Given the description of an element on the screen output the (x, y) to click on. 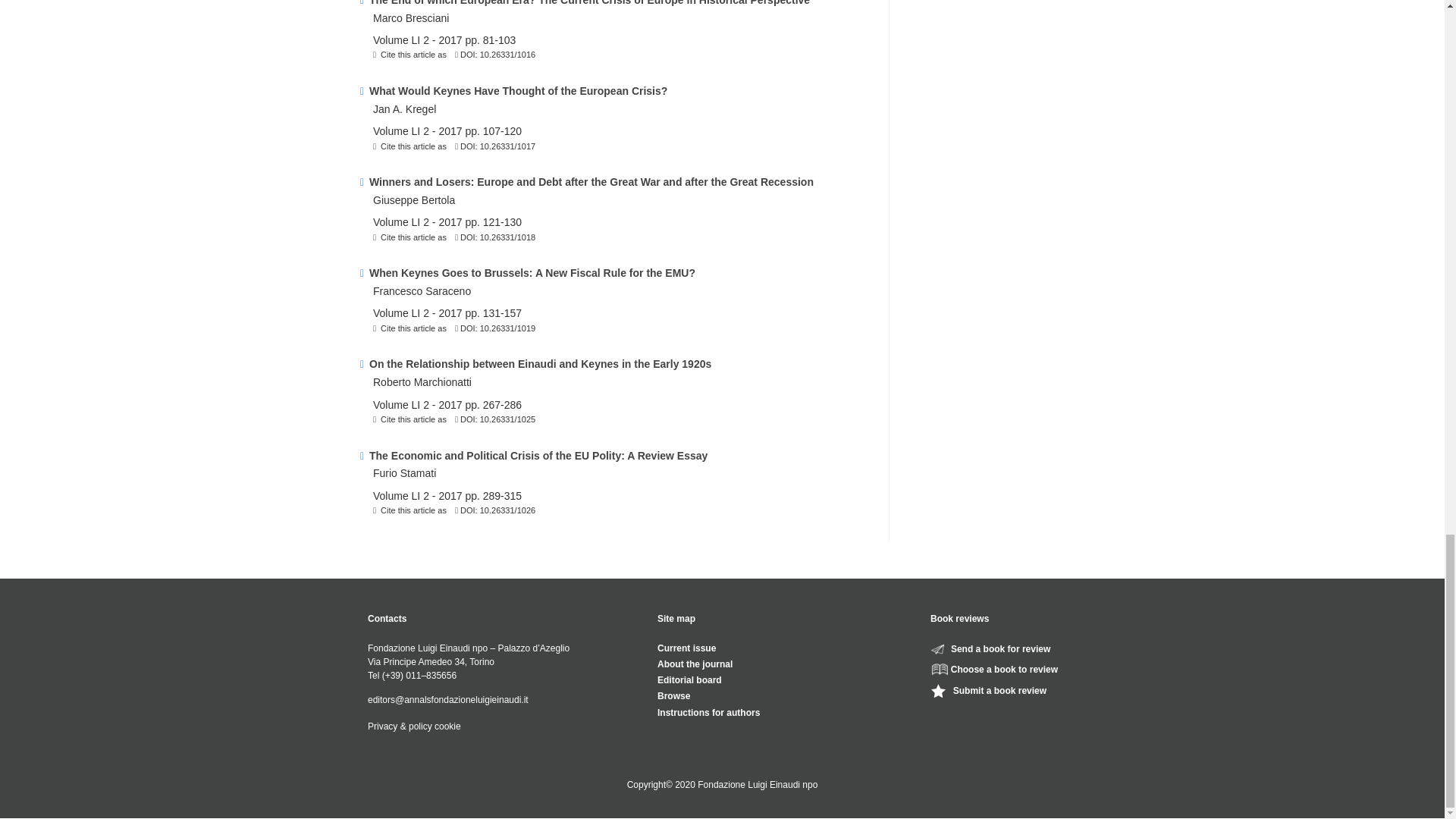
What Would Keynes Have Thought of the European Crisis? (616, 91)
